Given the description of an element on the screen output the (x, y) to click on. 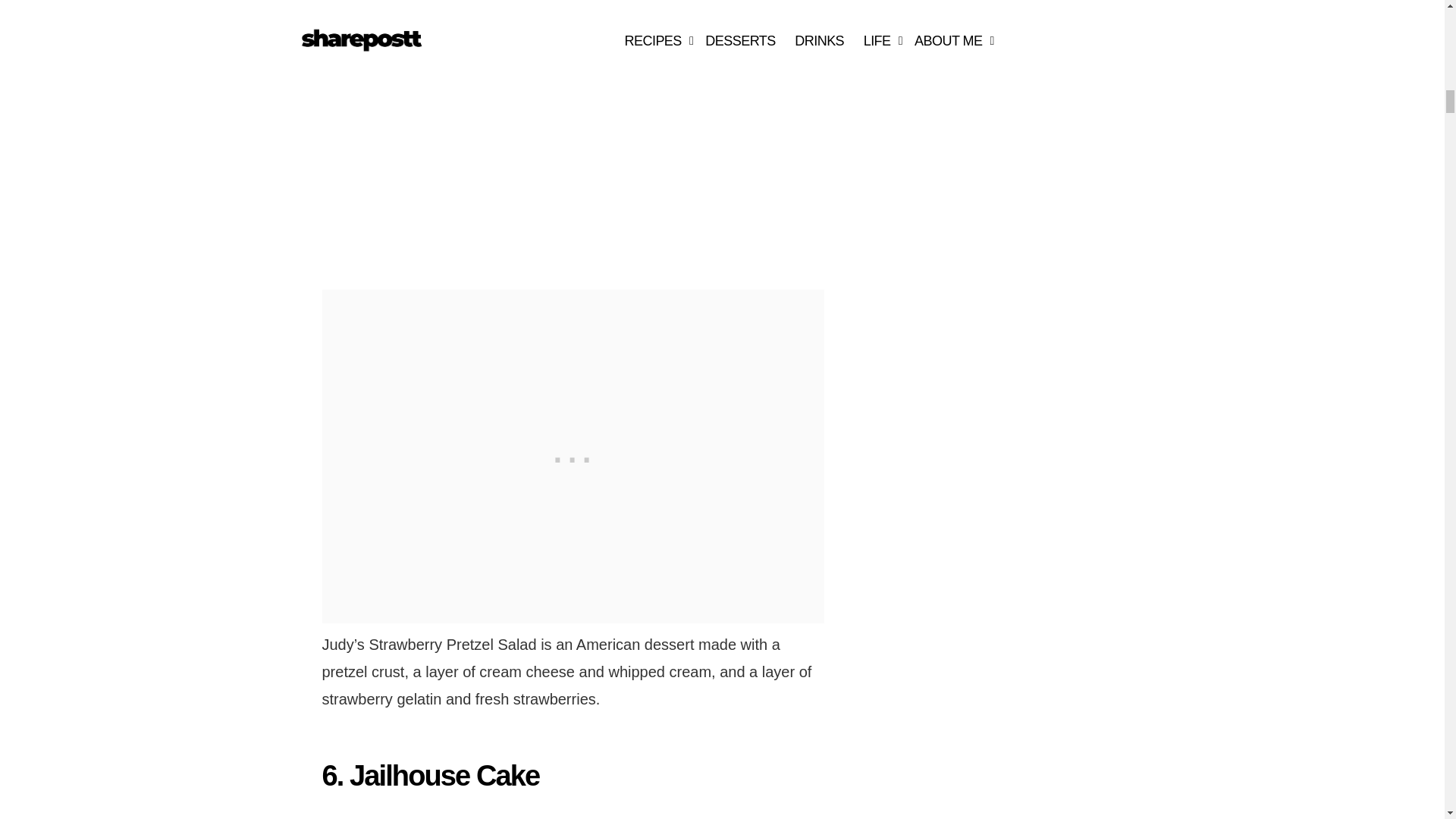
Judy's Strawberry Pretzel Salad (491, 133)
Jailhouse Cake - Simply old thyme recipes (491, 814)
